Given the description of an element on the screen output the (x, y) to click on. 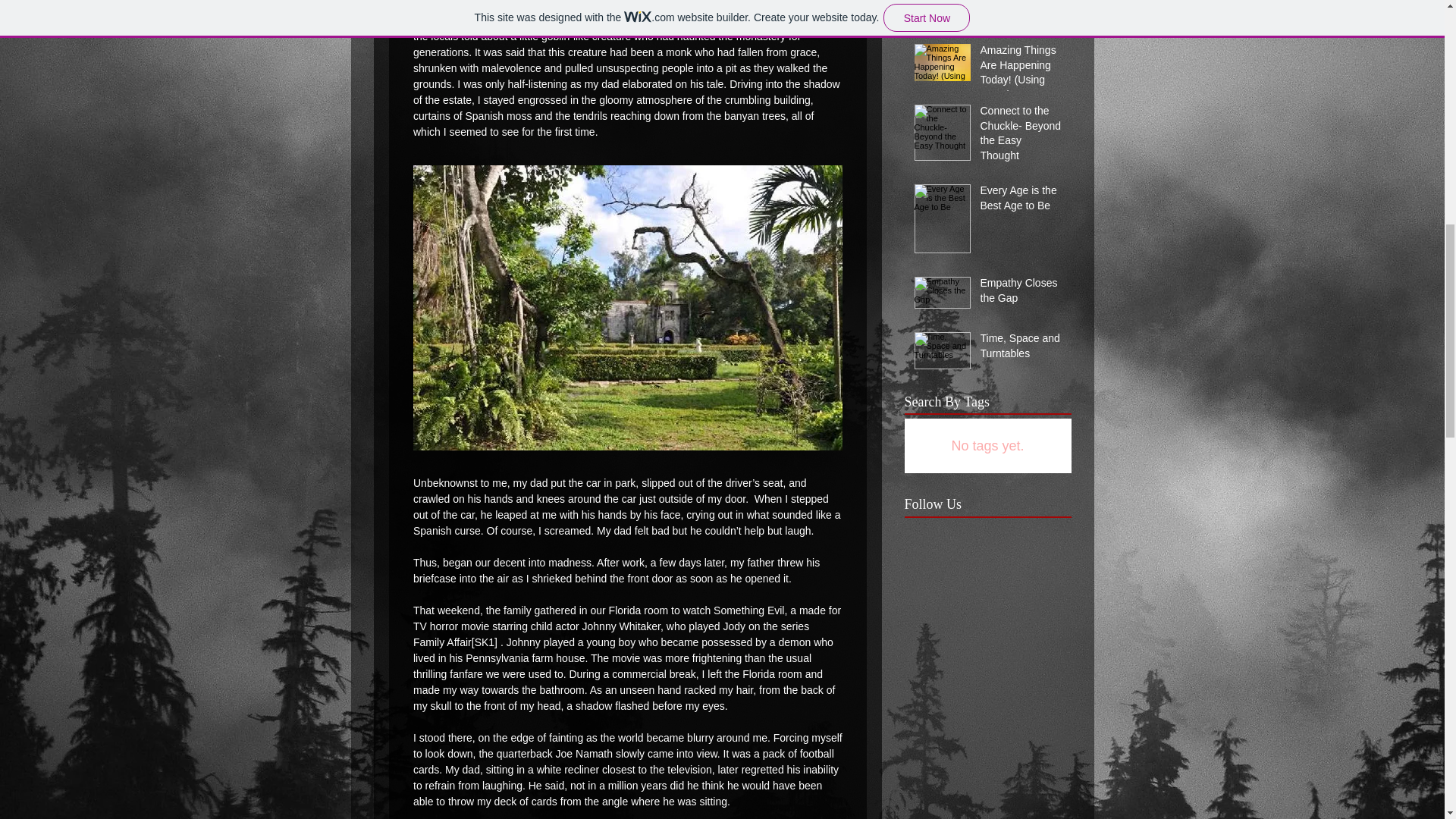
Every Age is the Best Age to Be (1020, 201)
Connect to the Chuckle- Beyond the Easy Thought (1020, 136)
Empathy Closes the Gap (1020, 294)
Time, Space and Turntables (1020, 348)
